Given the description of an element on the screen output the (x, y) to click on. 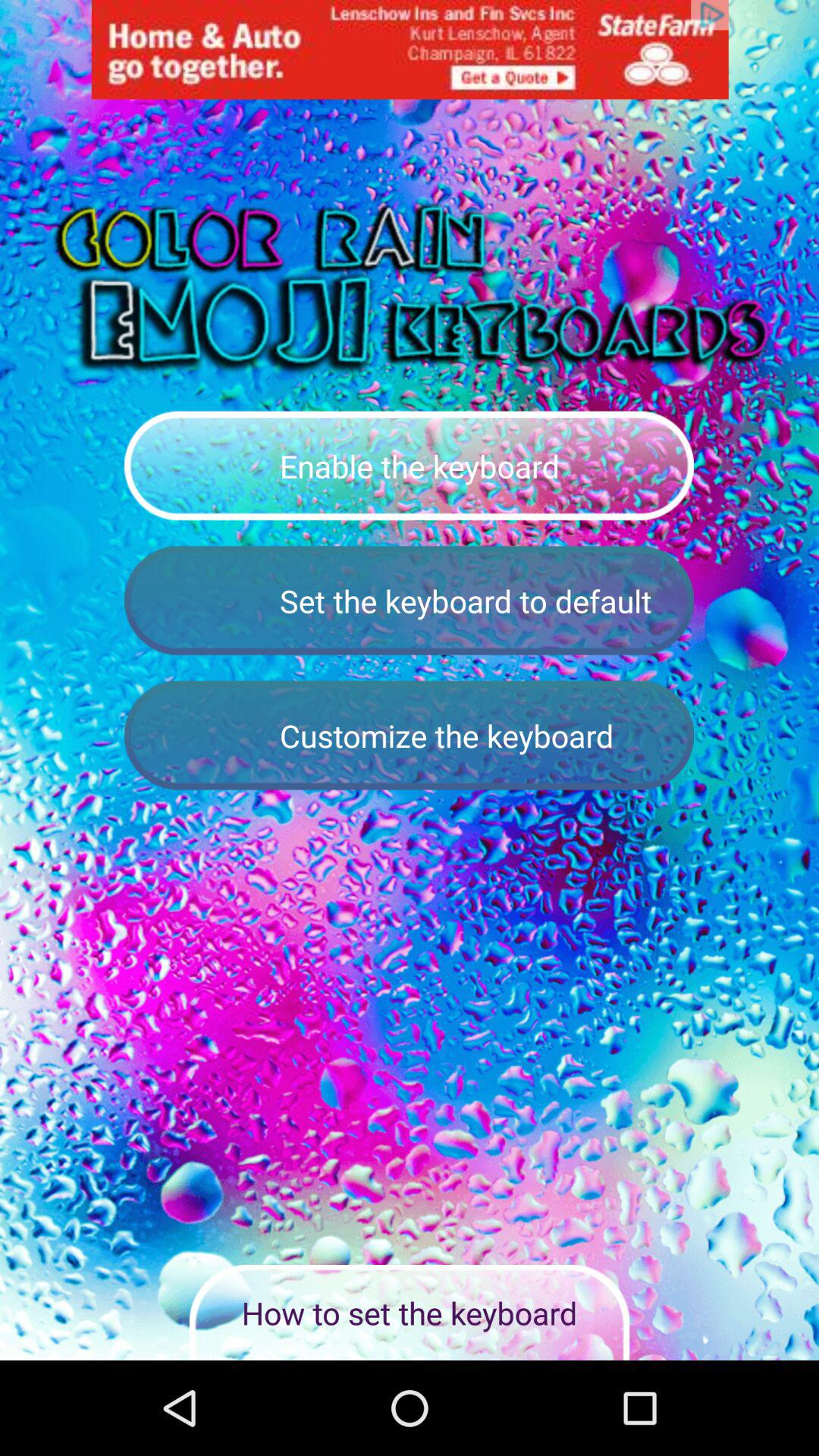
statefarm icon (409, 49)
